Given the description of an element on the screen output the (x, y) to click on. 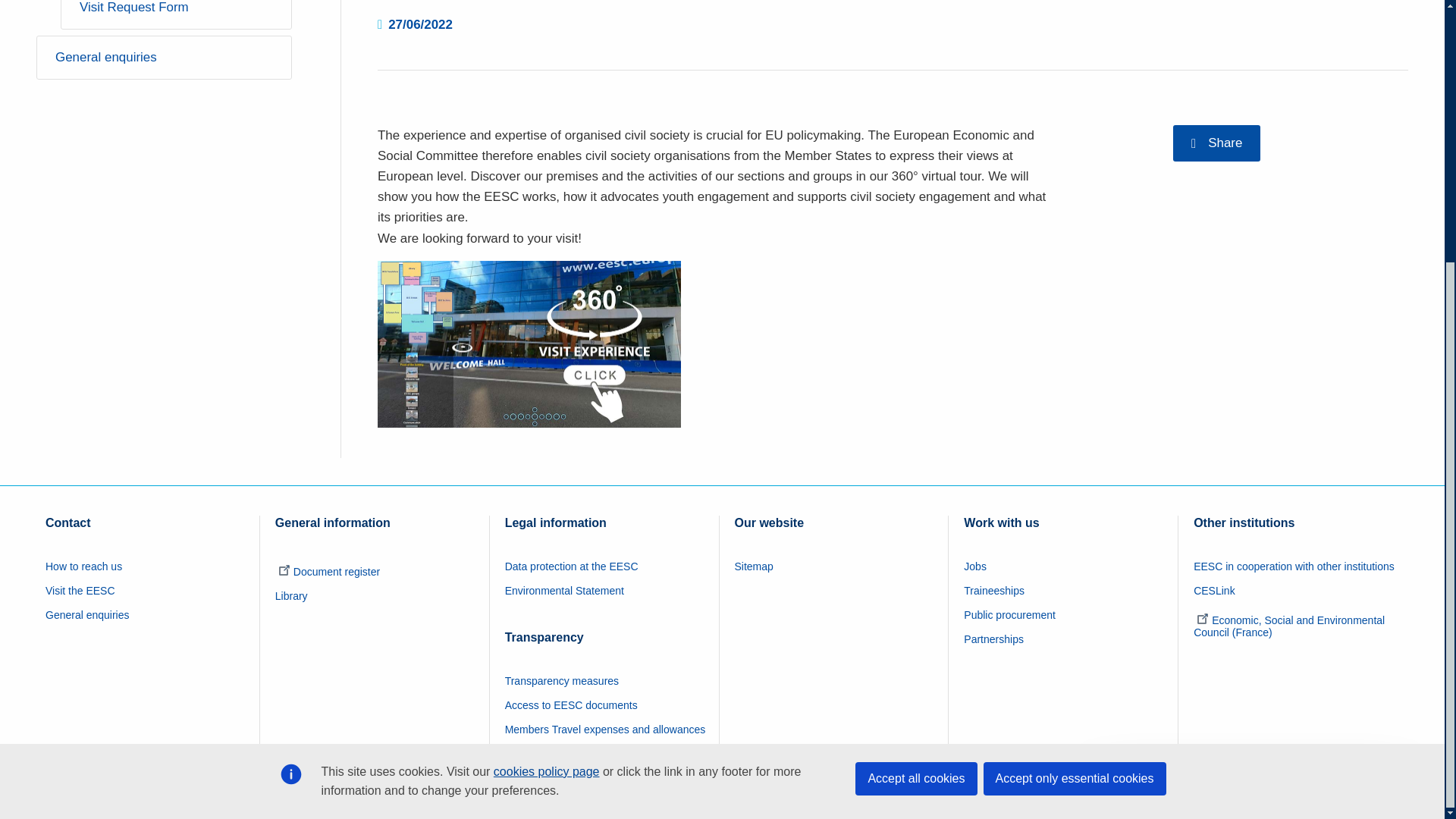
cookies policy page (546, 393)
Accept all cookies (916, 400)
Accept only essential cookies (1074, 400)
